Given the description of an element on the screen output the (x, y) to click on. 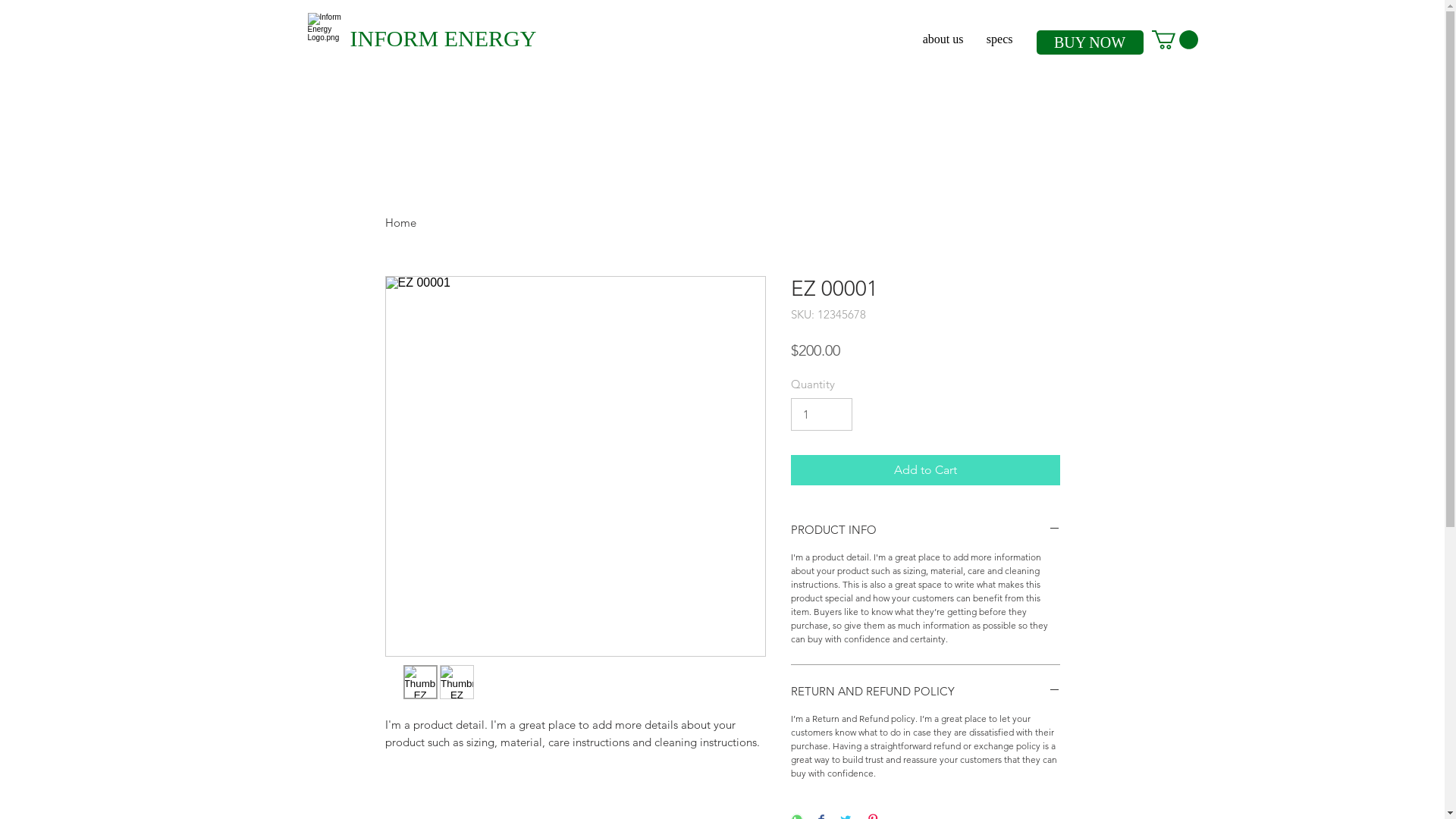
specs Element type: text (999, 38)
Home Element type: text (400, 222)
Add to Cart Element type: text (924, 470)
RETURN AND REFUND POLICY Element type: text (924, 691)
0 Element type: text (1174, 39)
about us Element type: text (943, 38)
BUY NOW Element type: text (1088, 42)
PRODUCT INFO Element type: text (924, 529)
